Given the description of an element on the screen output the (x, y) to click on. 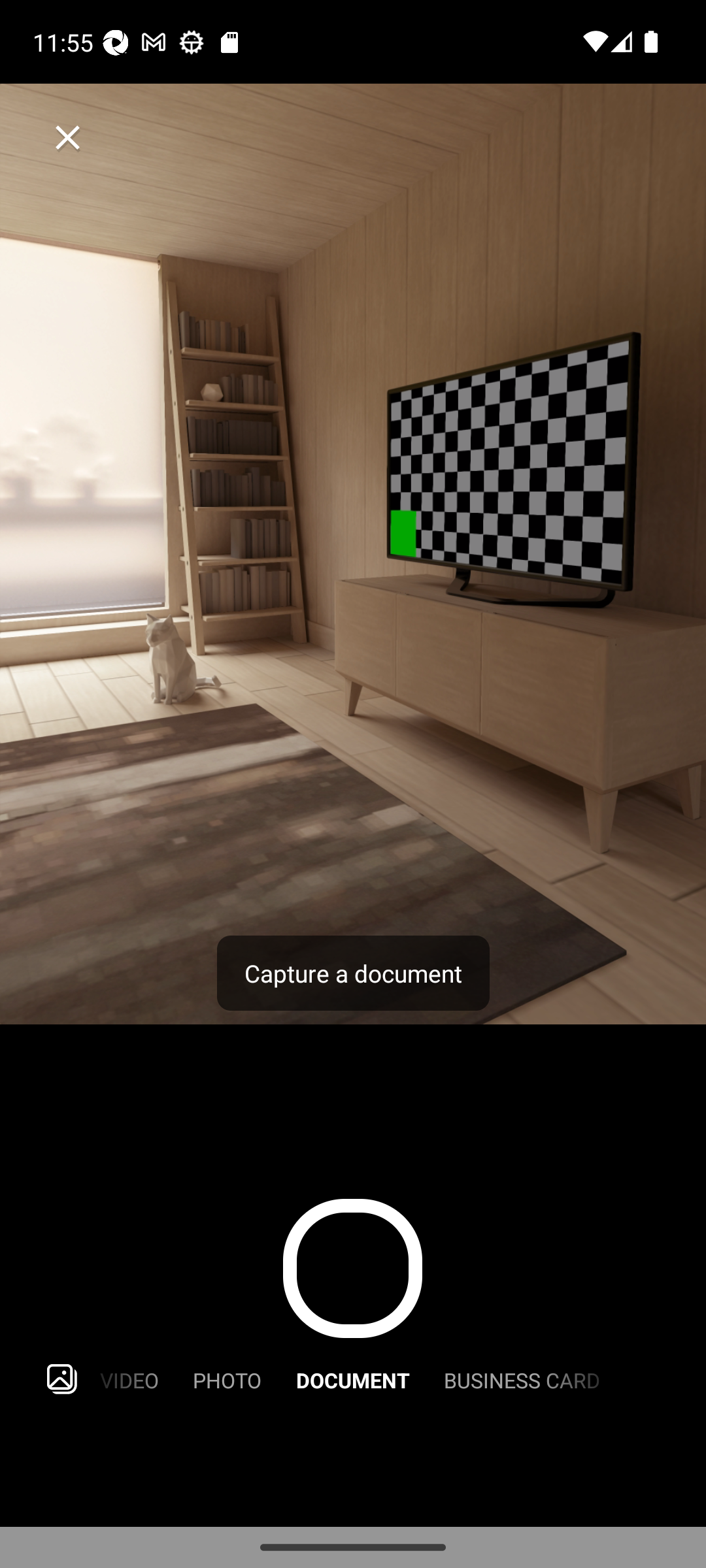
Close (67, 137)
Capture (352, 1268)
Import (62, 1378)
VIDEO (129, 1379)
PHOTO (227, 1379)
DOCUMENT (352, 1379)
BUSINESS CARD (521, 1379)
